Given the description of an element on the screen output the (x, y) to click on. 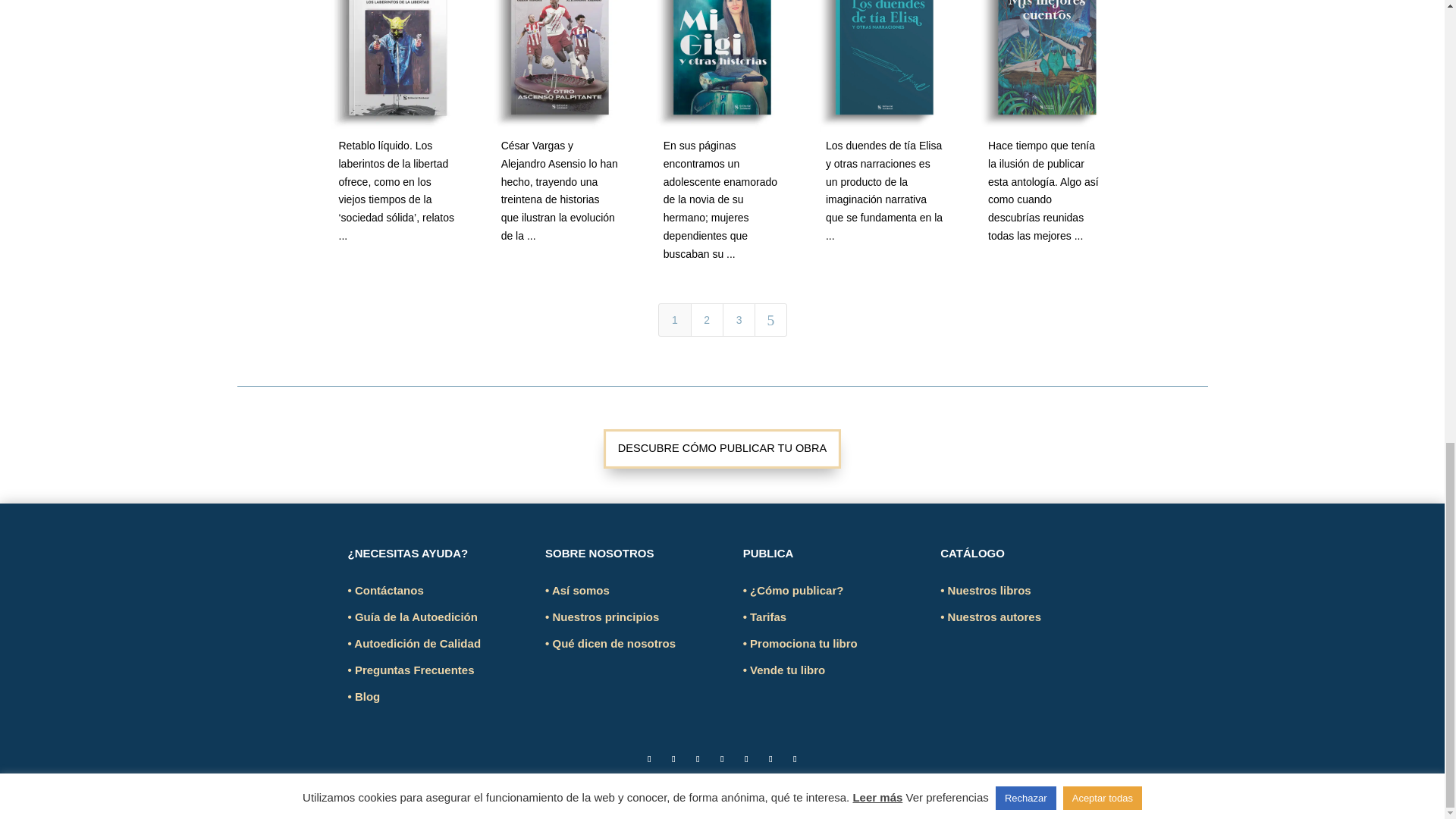
1 (674, 319)
Nuestros Libros (985, 590)
3 (738, 319)
Nuestros Autores (990, 616)
Promociona tu libro (799, 643)
Vende tu libro (783, 669)
Tarifas (764, 616)
BLOG (363, 696)
2 (706, 319)
